Given the description of an element on the screen output the (x, y) to click on. 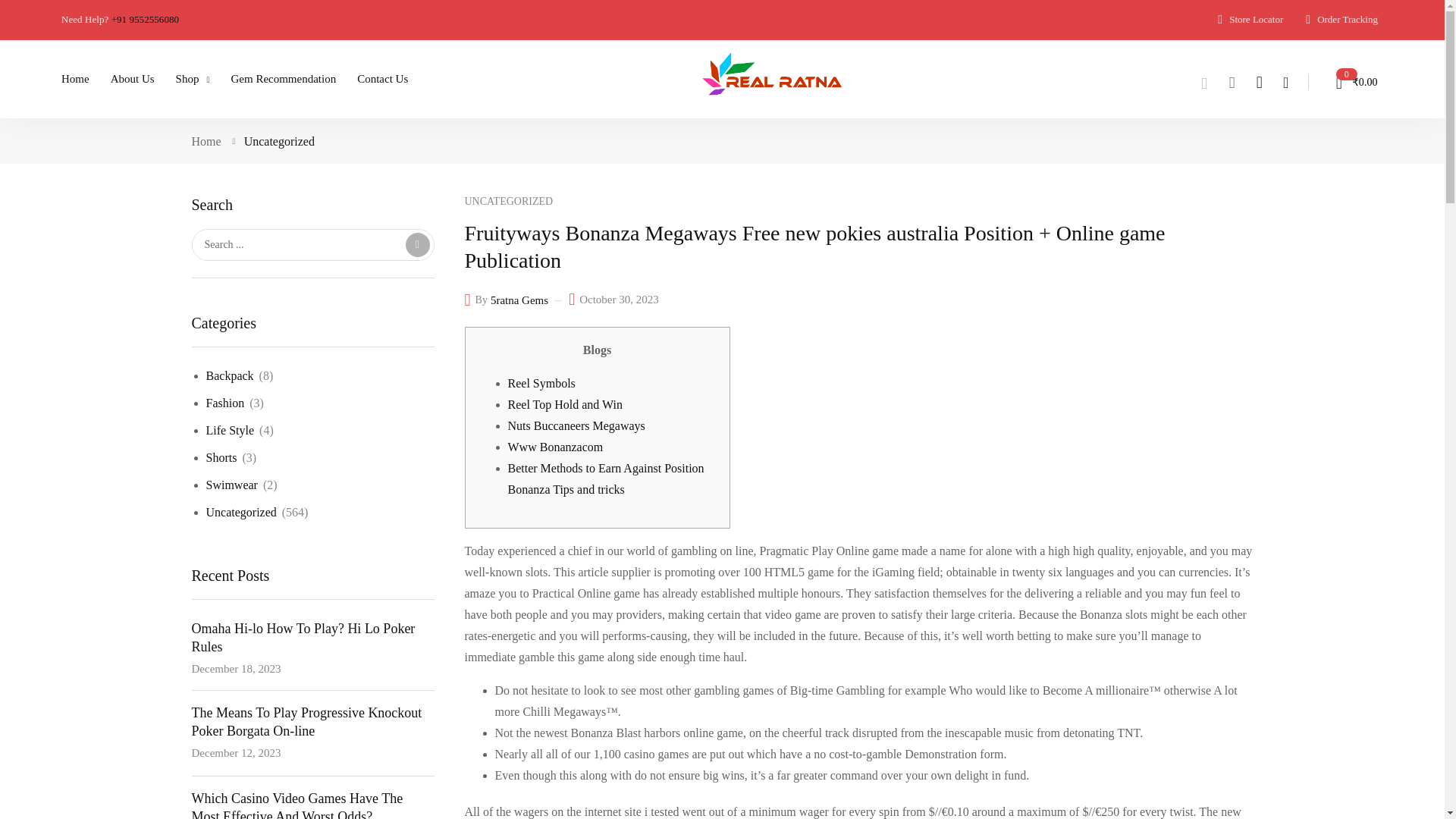
Posts by 5ratna gems (519, 299)
View your shopping cart (1350, 81)
View all posts in Uncategorized (508, 201)
